Given the description of an element on the screen output the (x, y) to click on. 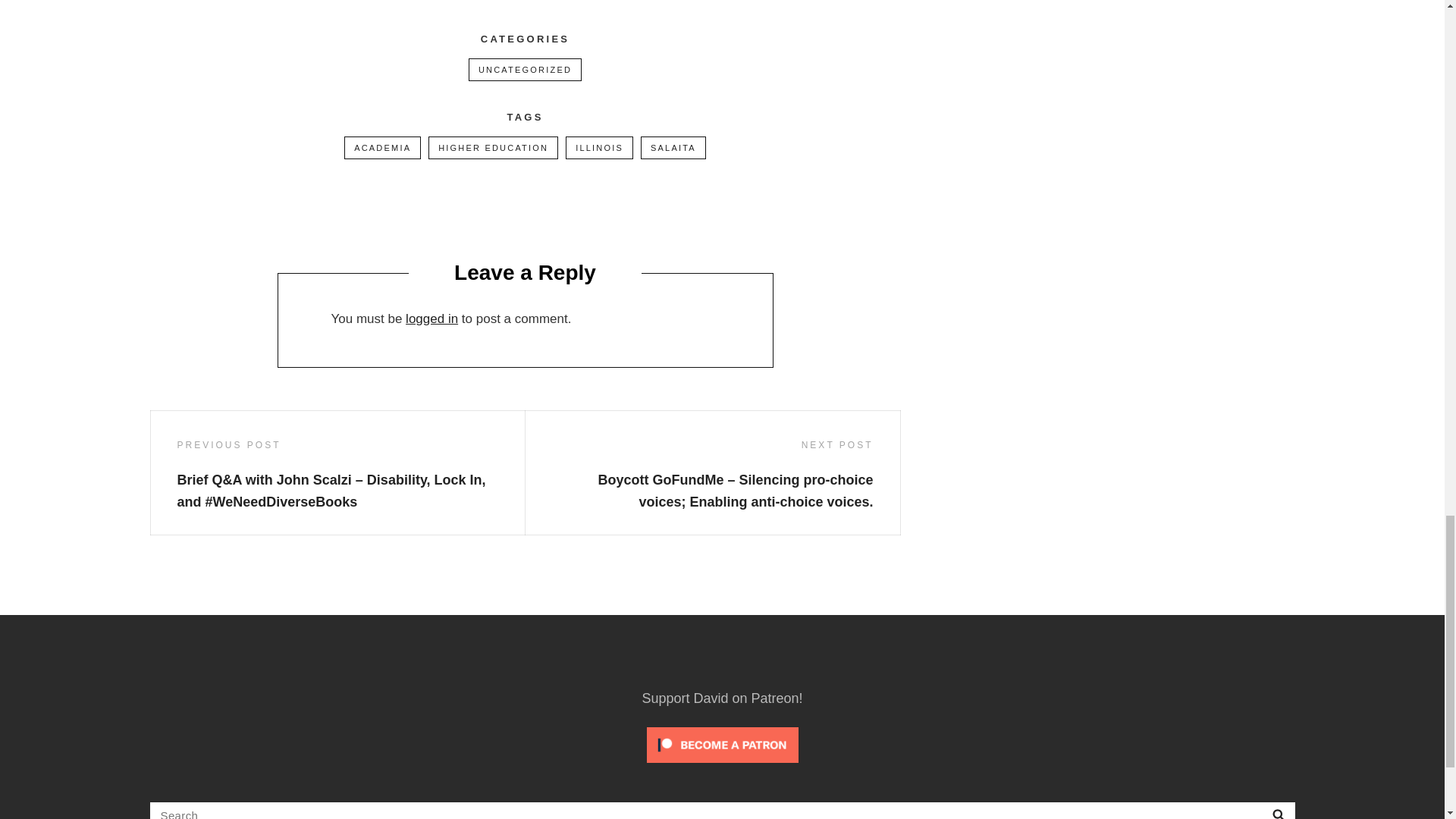
ILLINOIS (599, 147)
SALAITA (673, 147)
logged in (432, 318)
HIGHER EDUCATION (492, 147)
ACADEMIA (381, 147)
UNCATEGORIZED (524, 69)
